Given the description of an element on the screen output the (x, y) to click on. 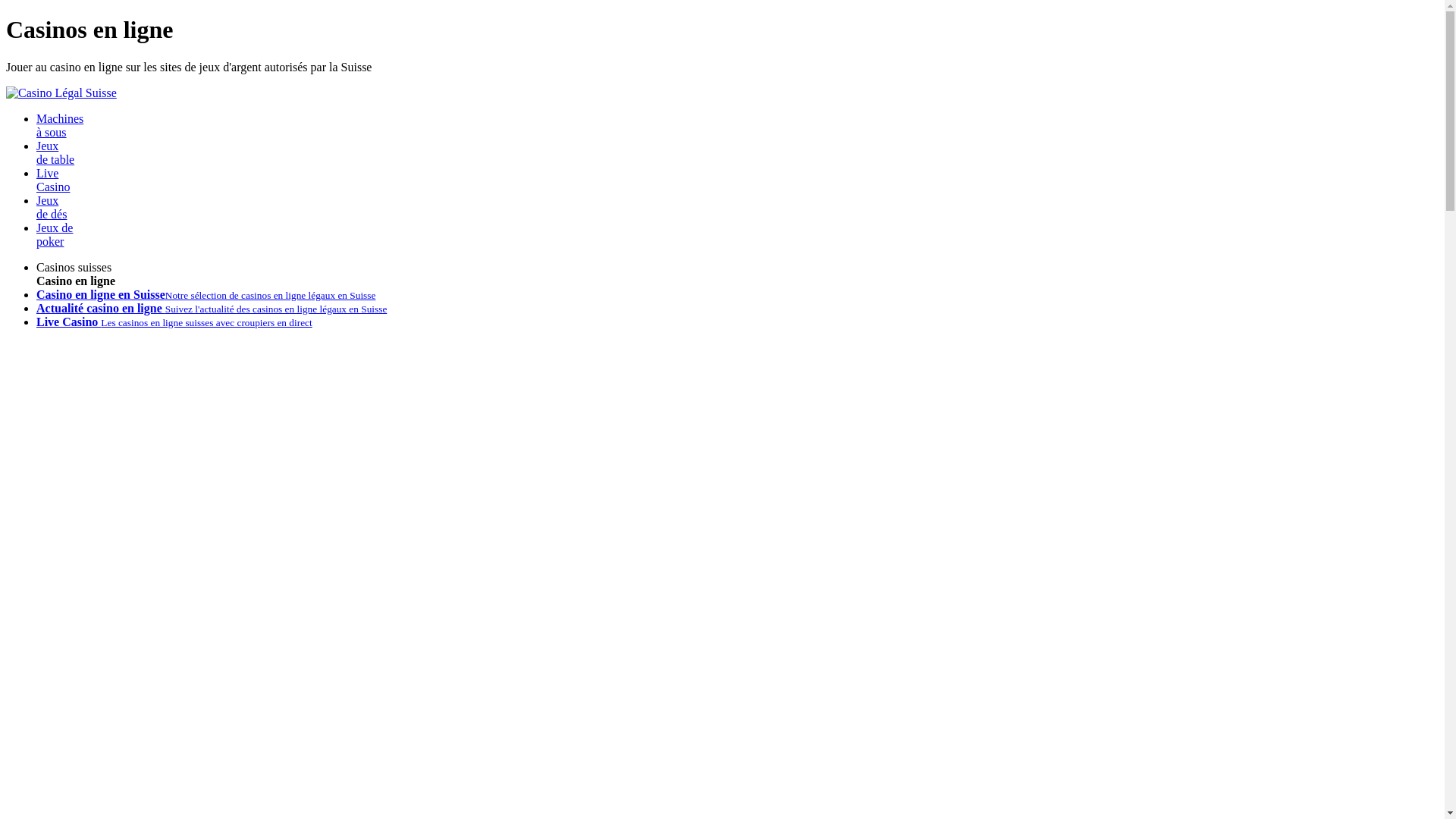
Jeux
de table Element type: text (55, 152)
Live
Casino Element type: text (52, 179)
Jeux de
poker Element type: text (54, 234)
